Given the description of an element on the screen output the (x, y) to click on. 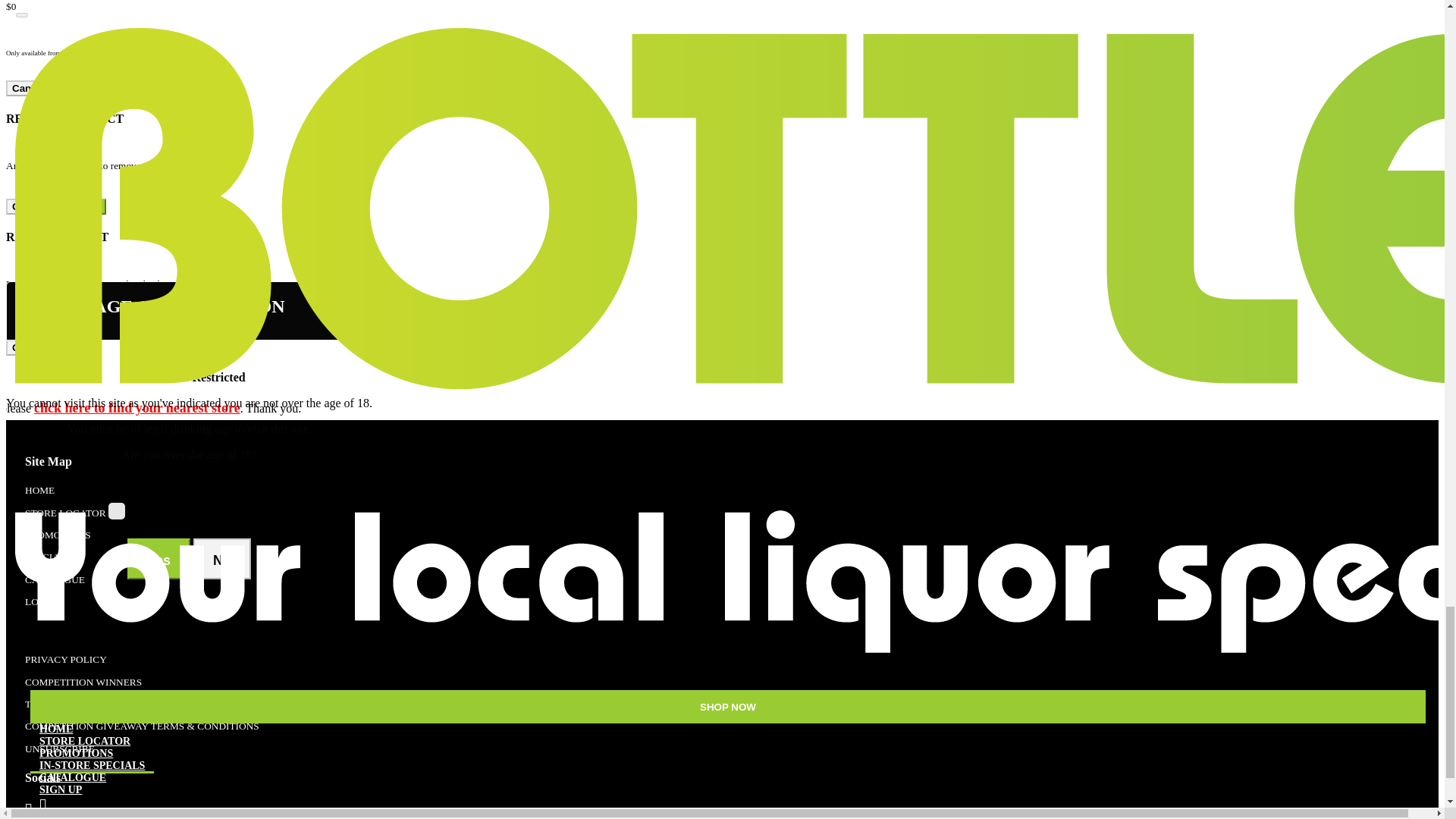
HOME (39, 490)
Reset (74, 347)
Privacy Policy (65, 659)
Login as a Member or Admin (41, 601)
STORE LOCATOR (65, 512)
Competition Winners (82, 681)
Find a bottle shop near me (65, 512)
Cancel (27, 347)
UNSUBSCRIBE (59, 748)
SPECIALS (47, 556)
Cancel (27, 206)
PRIVACY POLICY (65, 659)
